Given the description of an element on the screen output the (x, y) to click on. 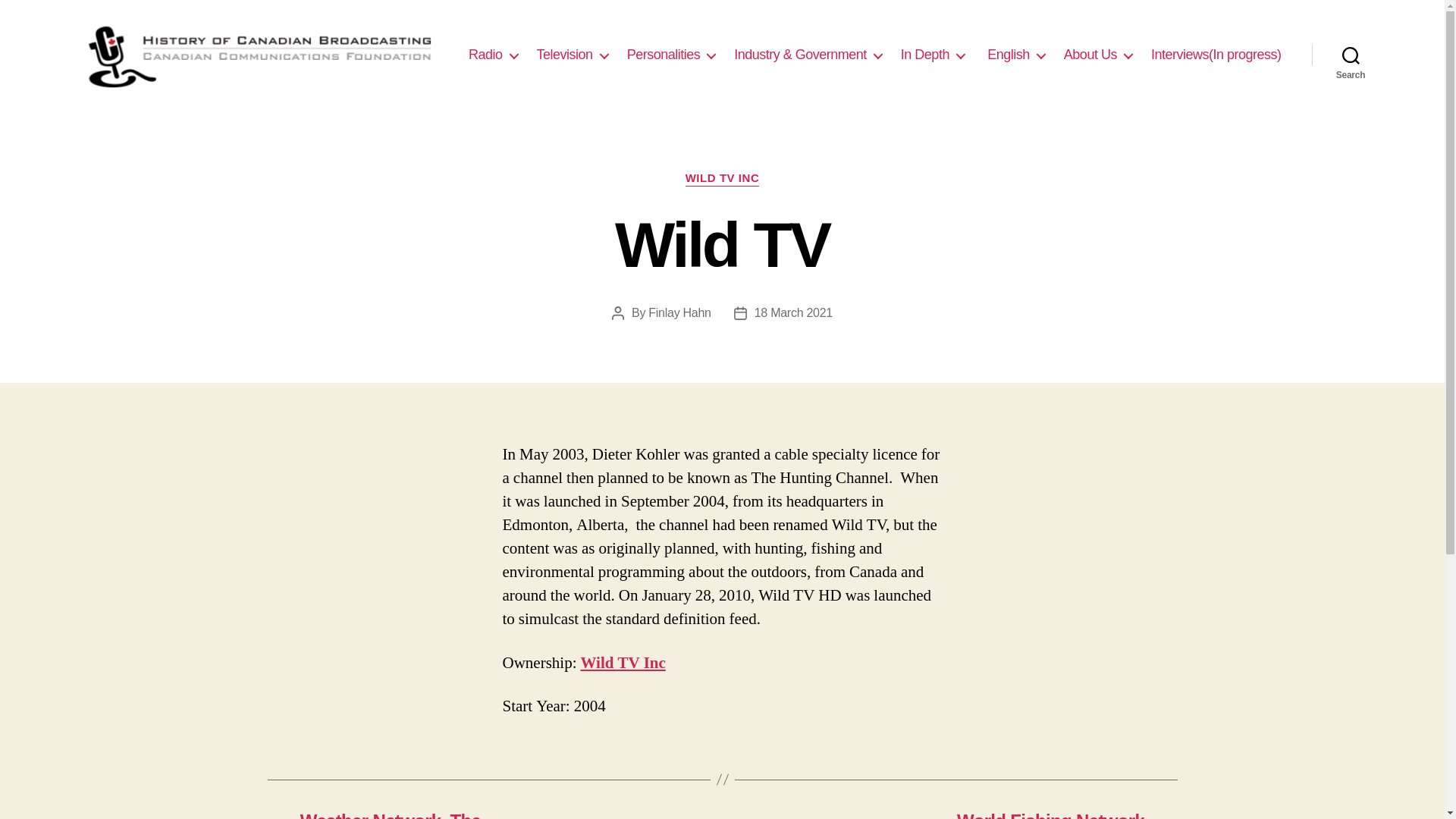
Television (572, 54)
Search (1350, 55)
Radio (493, 54)
English (1014, 54)
In Depth (932, 54)
Personalities (671, 54)
About Us (1098, 54)
